Given the description of an element on the screen output the (x, y) to click on. 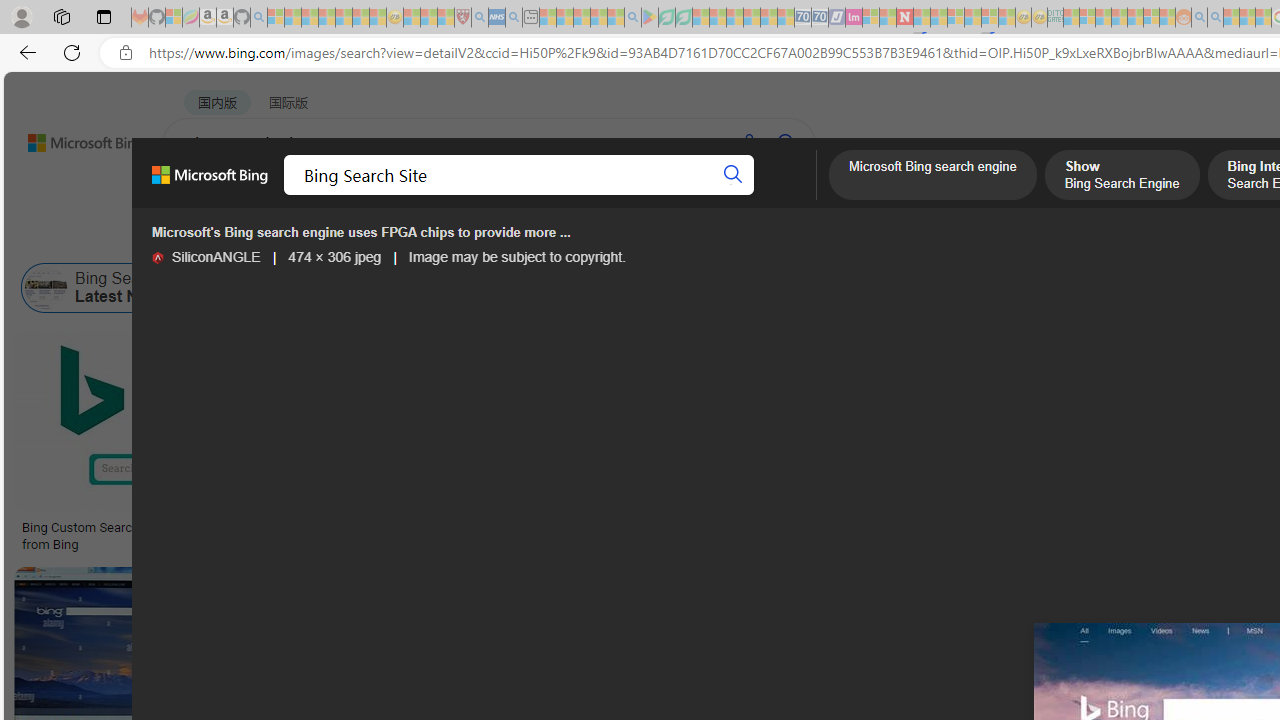
Pets - MSN - Sleeping (598, 17)
Back to Bing search (73, 138)
MY BING (276, 195)
Jobs - lastminute.com Investor Portal - Sleeping (853, 17)
Search (733, 174)
Image size (221, 237)
ACADEMIC (635, 195)
VIDEOS (545, 195)
WEB (201, 195)
google - Search - Sleeping (632, 17)
